Given the description of an element on the screen output the (x, y) to click on. 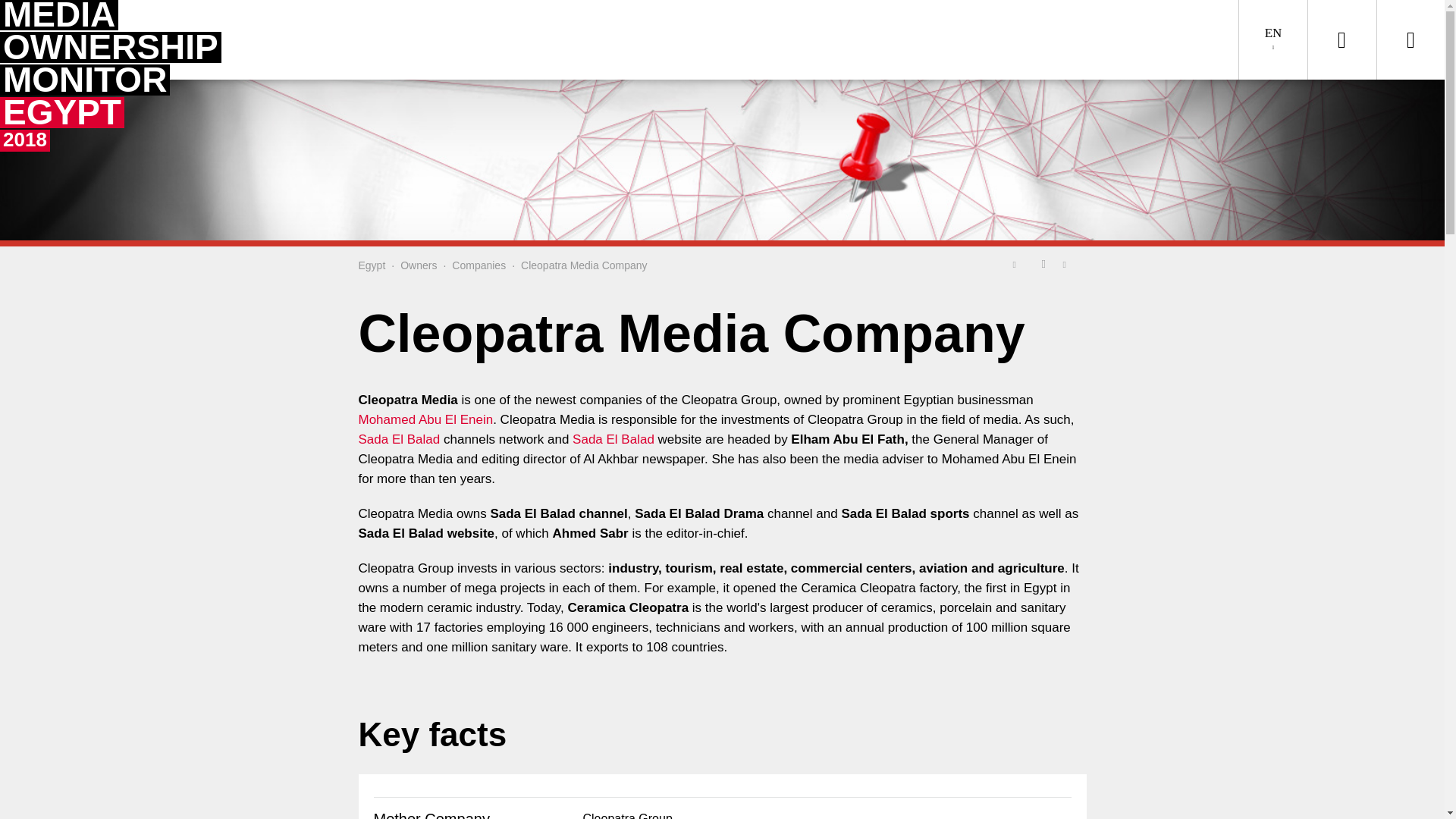
Owners (418, 264)
Cleopatra Media Company (584, 264)
Mohamed Abu El Enein (425, 419)
Share this site on facebook (1042, 263)
Search (1341, 39)
twitter (1017, 263)
Owners (418, 264)
Companies (478, 264)
email (1068, 263)
Media Ownership Monitor Egypt (371, 264)
Share this site by e-mail (1068, 263)
Egypt (371, 264)
Sada El Balad (87, 76)
Share this site on twitter (612, 439)
